Given the description of an element on the screen output the (x, y) to click on. 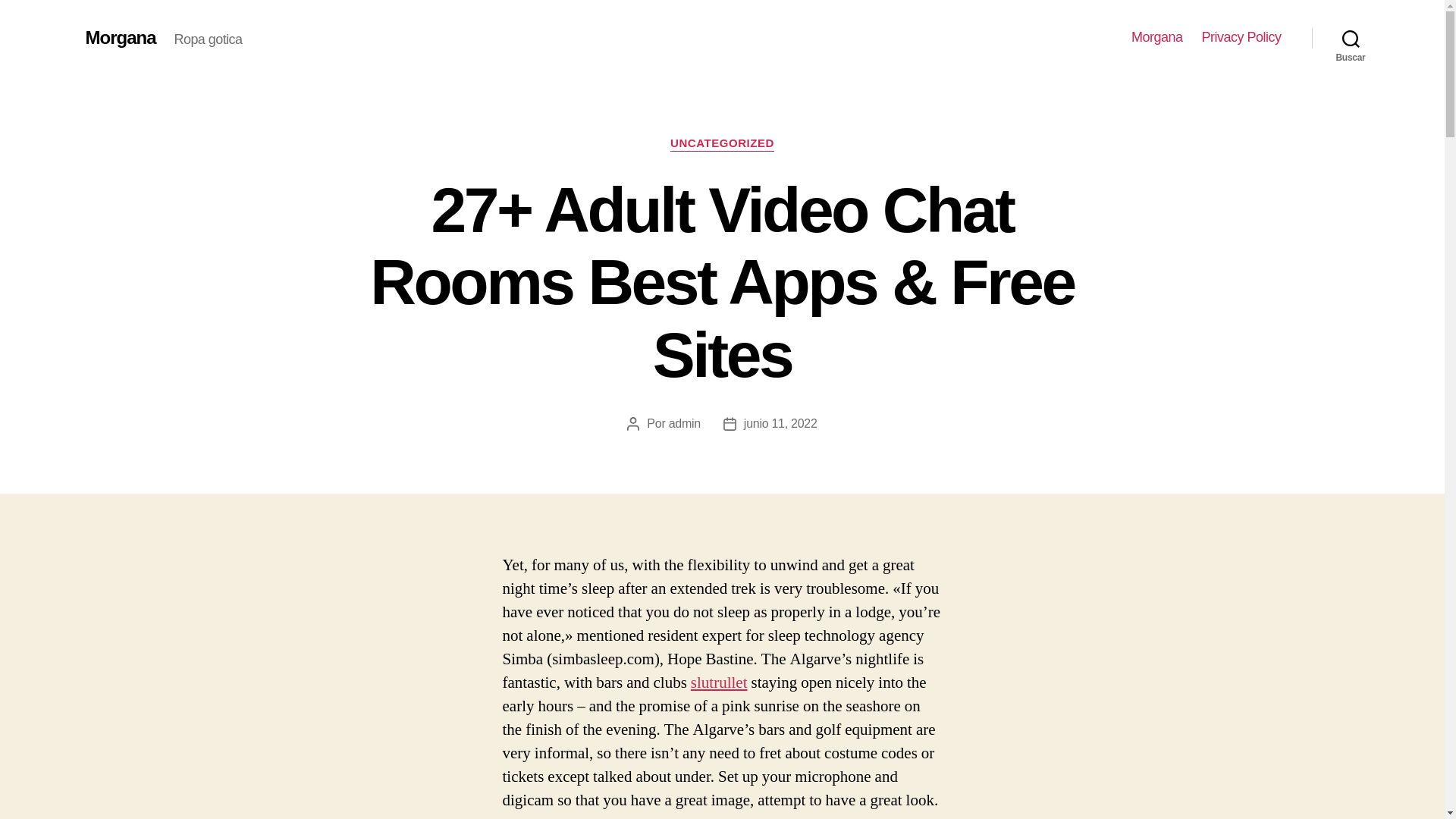
UNCATEGORIZED (721, 143)
admin (684, 422)
slutrullet (719, 682)
Morgana (119, 37)
Buscar (1350, 37)
Privacy Policy (1241, 37)
junio 11, 2022 (780, 422)
Morgana (1156, 37)
